Given the description of an element on the screen output the (x, y) to click on. 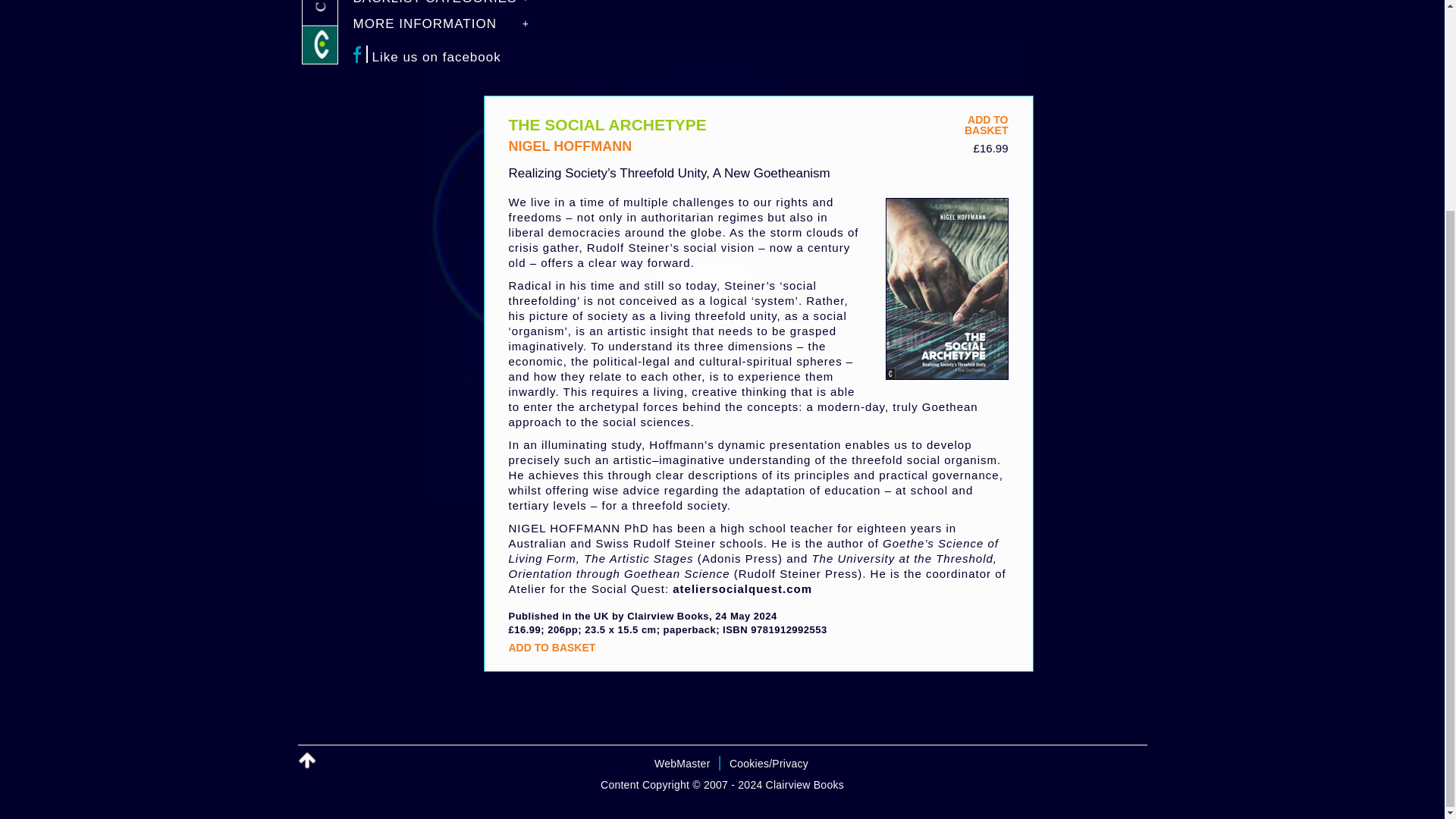
ADD TO BASKET (551, 647)
Like us on facebook (448, 56)
ateliersocialquest.com (742, 588)
NIGEL HOFFMANN (569, 145)
BACKLIST CATEGORIES (986, 124)
WebMaster (448, 7)
Go to the top of the page (681, 763)
MORE INFORMATION (306, 760)
